Given the description of an element on the screen output the (x, y) to click on. 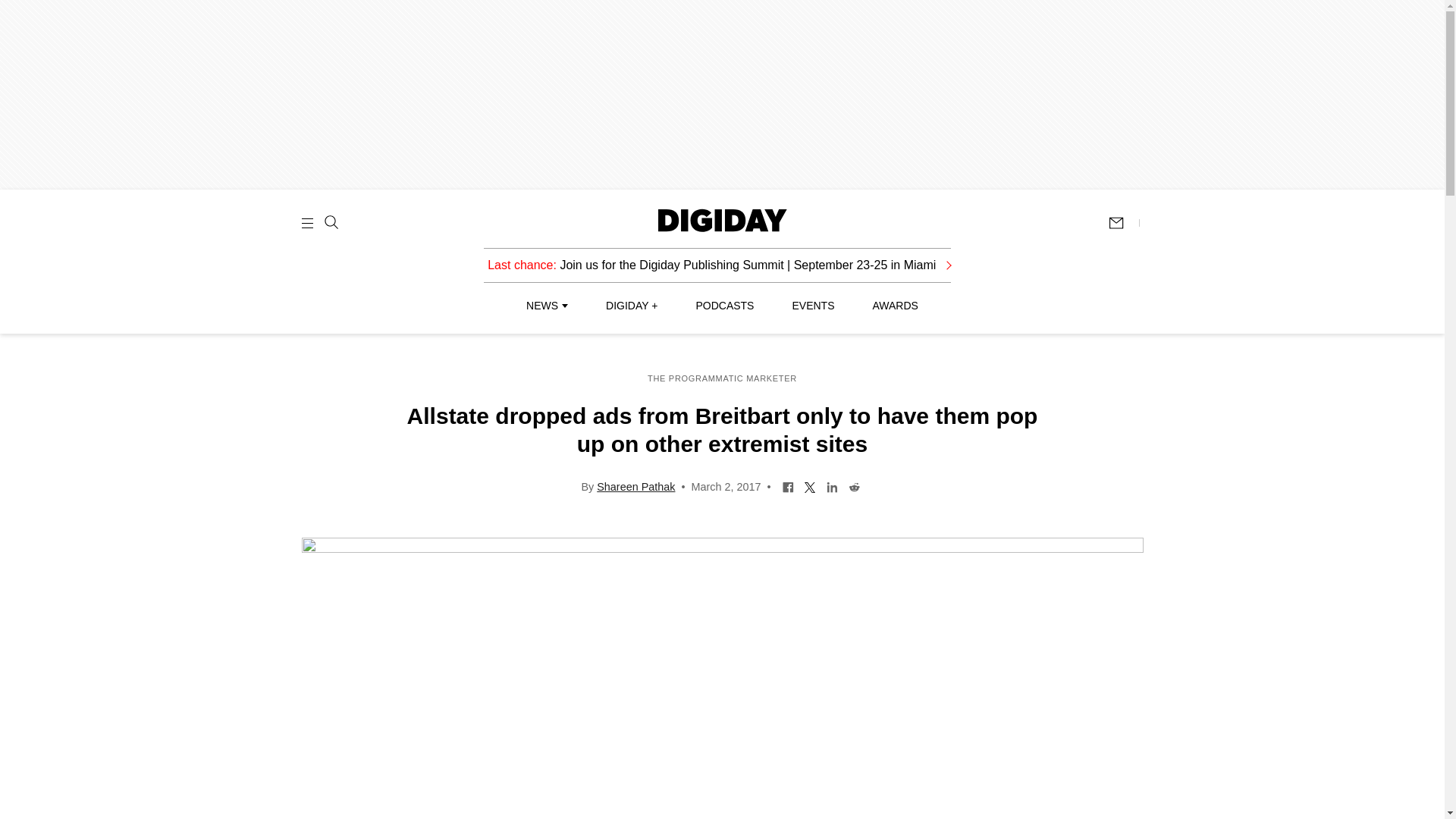
Share on LinkedIn (831, 485)
EVENTS (813, 305)
Share on Reddit (853, 485)
Subscribe (1123, 223)
NEWS (546, 305)
AWARDS (894, 305)
Share on Facebook (787, 485)
PODCASTS (725, 305)
Share on Twitter (809, 485)
